Given the description of an element on the screen output the (x, y) to click on. 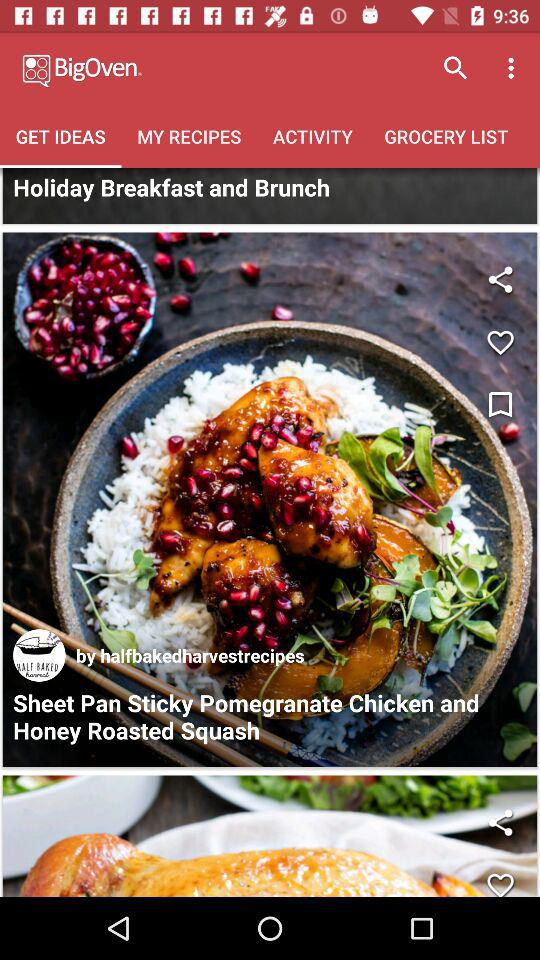
add to favorites (500, 878)
